Given the description of an element on the screen output the (x, y) to click on. 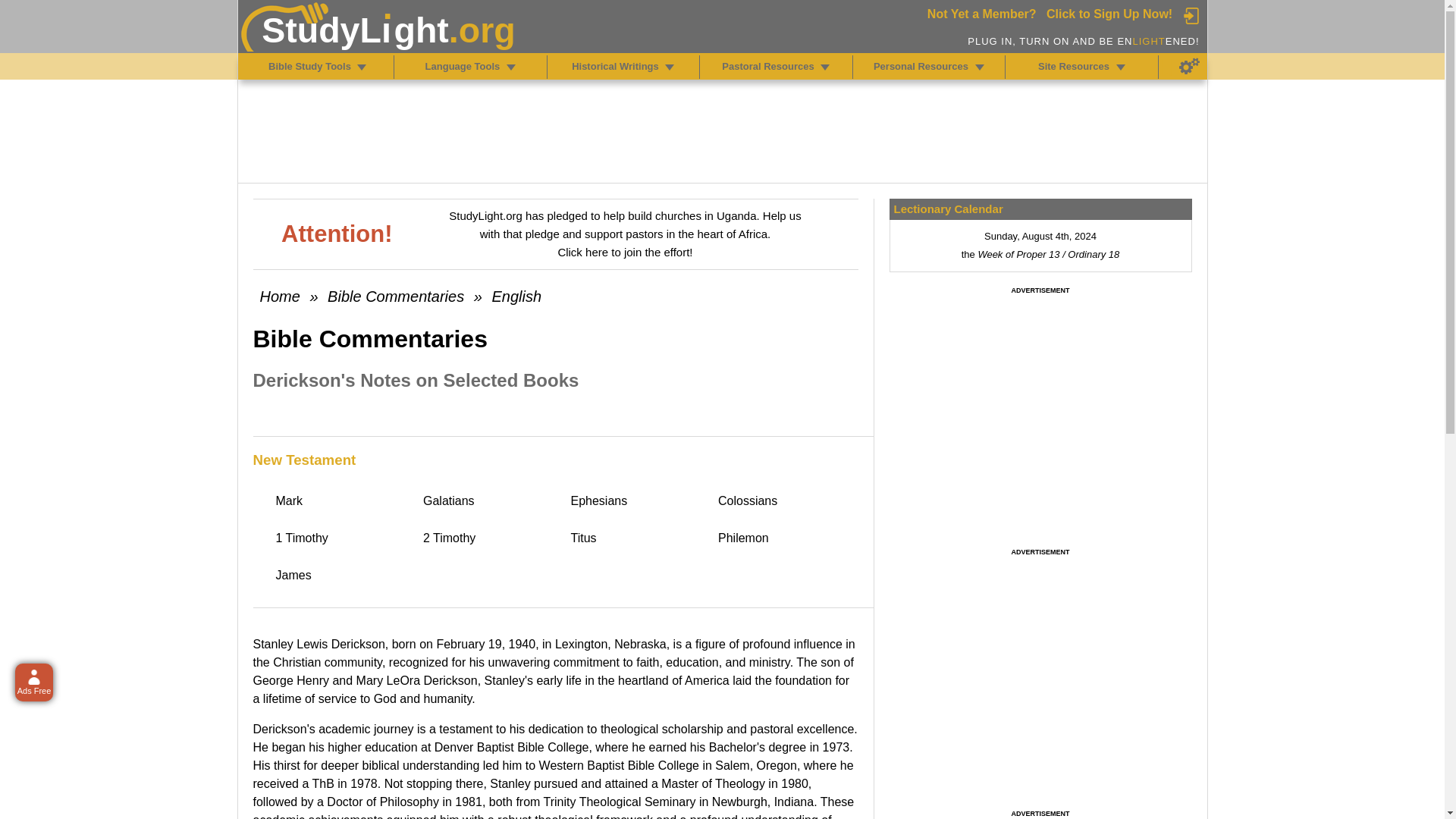
Ephesians (636, 500)
Philemon (783, 538)
Click to Sign Up Now! (1109, 13)
Home (279, 296)
James (342, 575)
Colossians (783, 500)
Mark (342, 500)
Bible Study Tools (361, 67)
English (516, 296)
Personal Resources (979, 67)
2 Timothy (489, 538)
Galatians (489, 500)
Pastoral Resources (825, 67)
Language Tools (510, 67)
1 Timothy (342, 538)
